Given the description of an element on the screen output the (x, y) to click on. 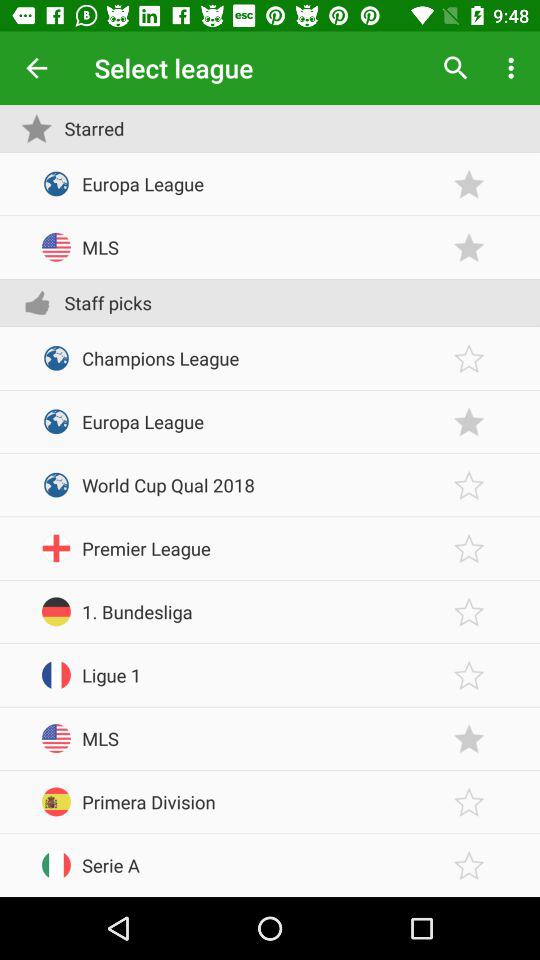
would favorite permier league (469, 548)
